Given the description of an element on the screen output the (x, y) to click on. 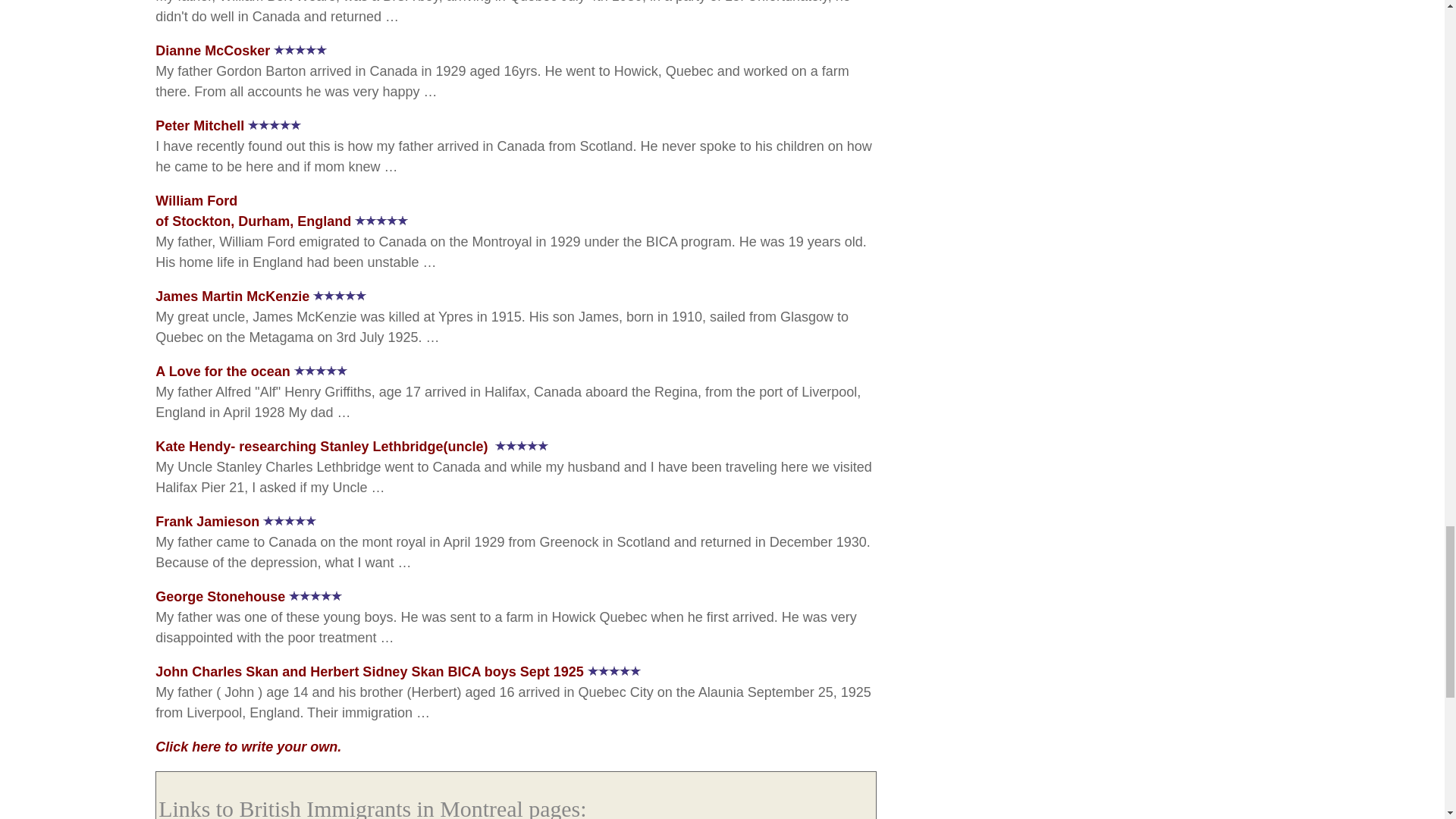
Click here to write your own. (247, 746)
A Love for the ocean (222, 371)
Frank Jamieson (207, 521)
Dianne McCosker (252, 211)
James Martin McKenzie (212, 50)
Peter Mitchell (231, 296)
George Stonehouse (199, 125)
